Given the description of an element on the screen output the (x, y) to click on. 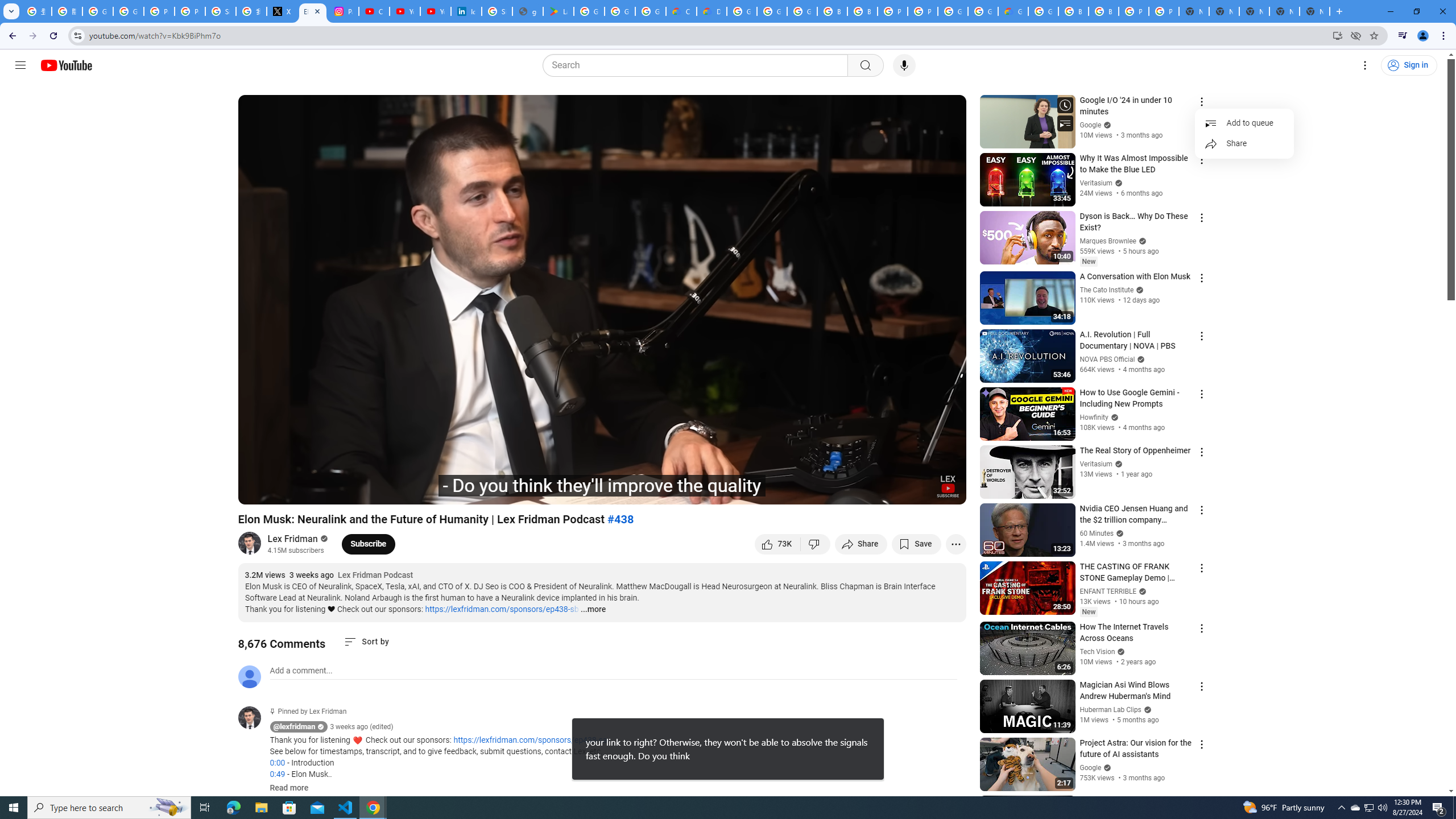
YouTube Culture & Trends - YouTube Top 10, 2021 (434, 11)
Default profile photo (248, 676)
3 weeks ago (edited) (361, 726)
Lex Fridman (292, 538)
Channel watermark (947, 486)
Google Cloud Platform (982, 11)
Install YouTube (1336, 35)
Lex Fridman Podcast (375, 575)
YouTube Home (66, 65)
